Given the description of an element on the screen output the (x, y) to click on. 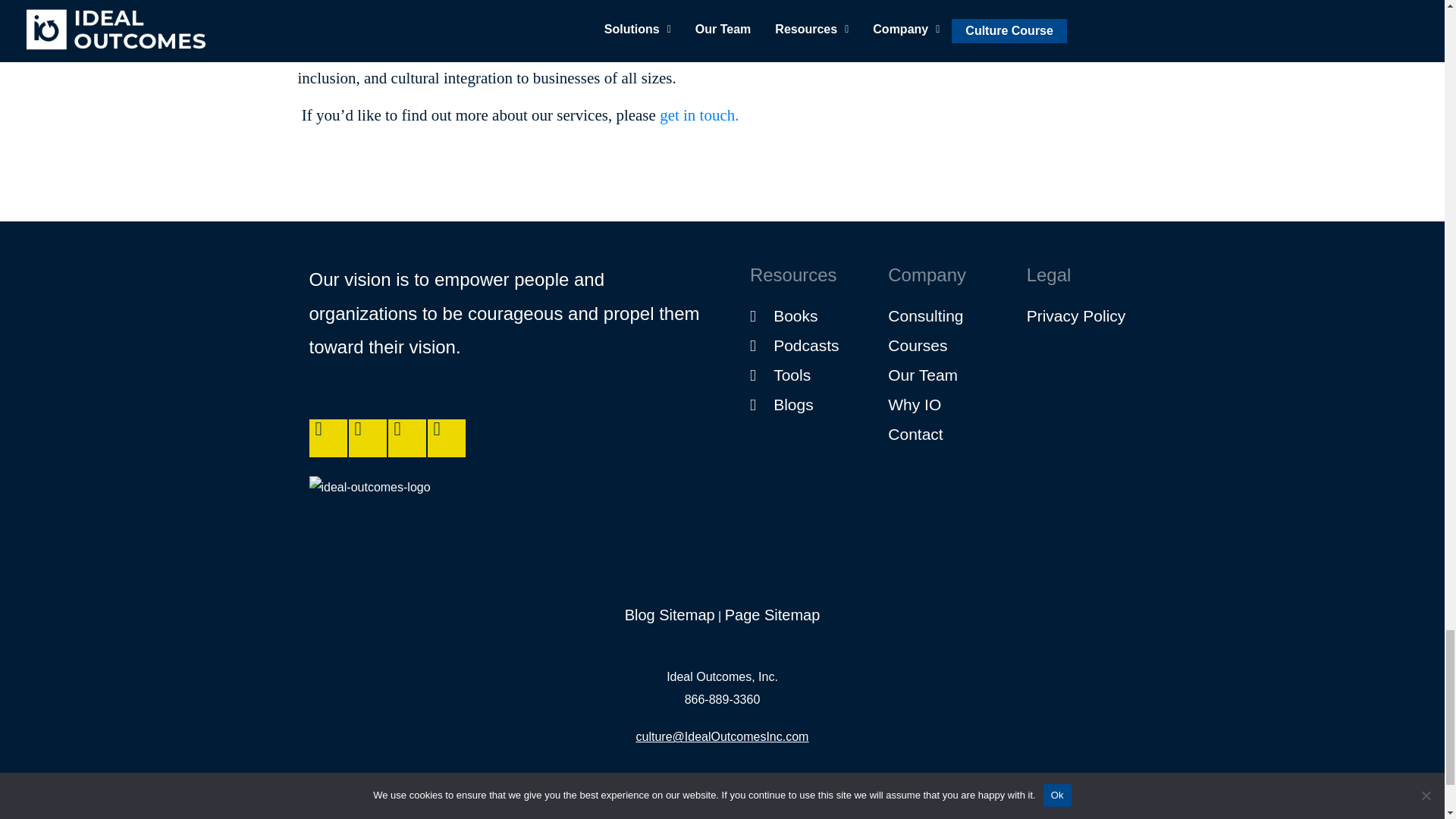
get in touch. (698, 115)
Facebook (327, 438)
ideal-outcomes-logo (369, 513)
Twitter (368, 438)
